Given the description of an element on the screen output the (x, y) to click on. 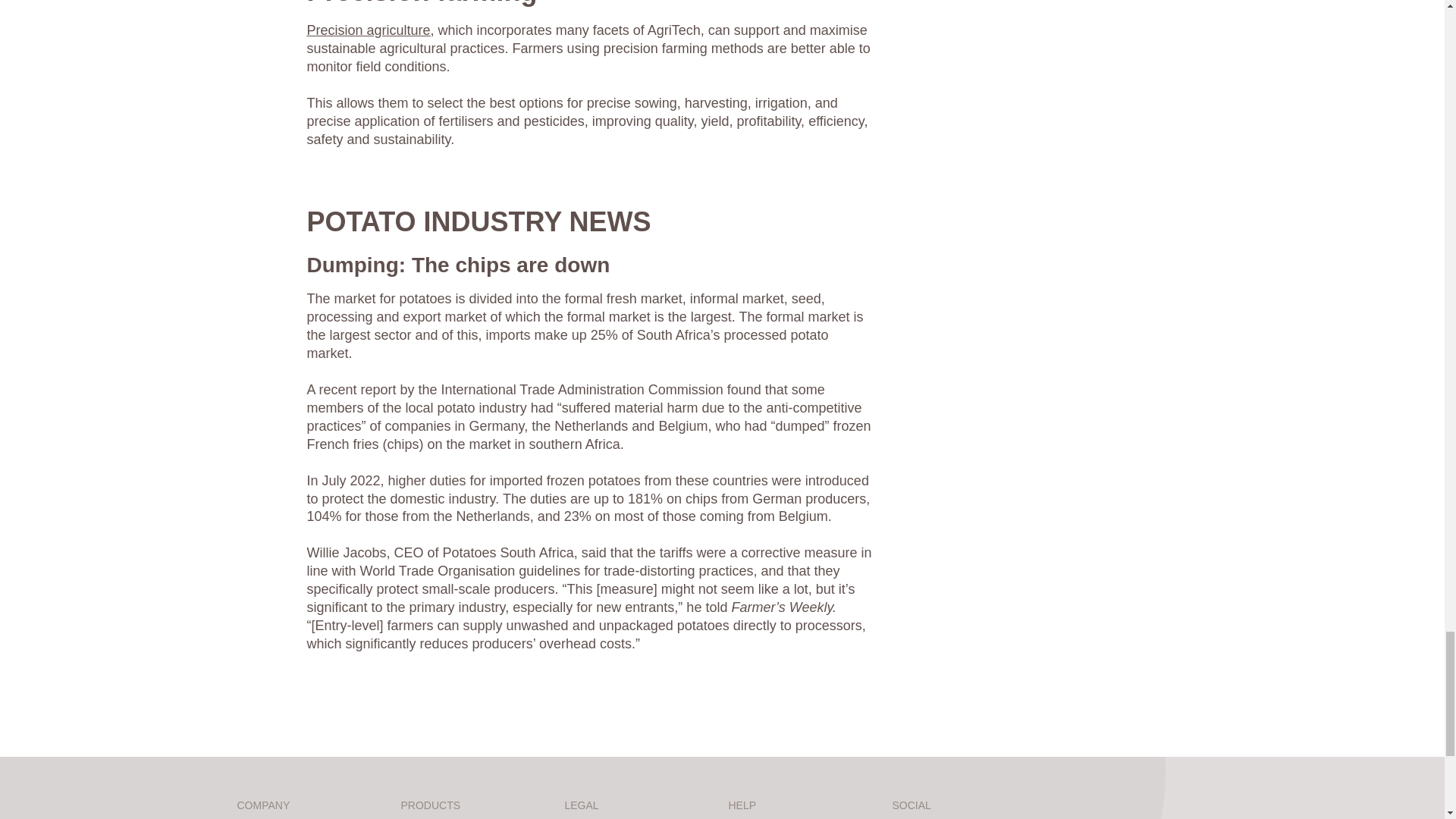
Precision agriculture (367, 29)
